Given the description of an element on the screen output the (x, y) to click on. 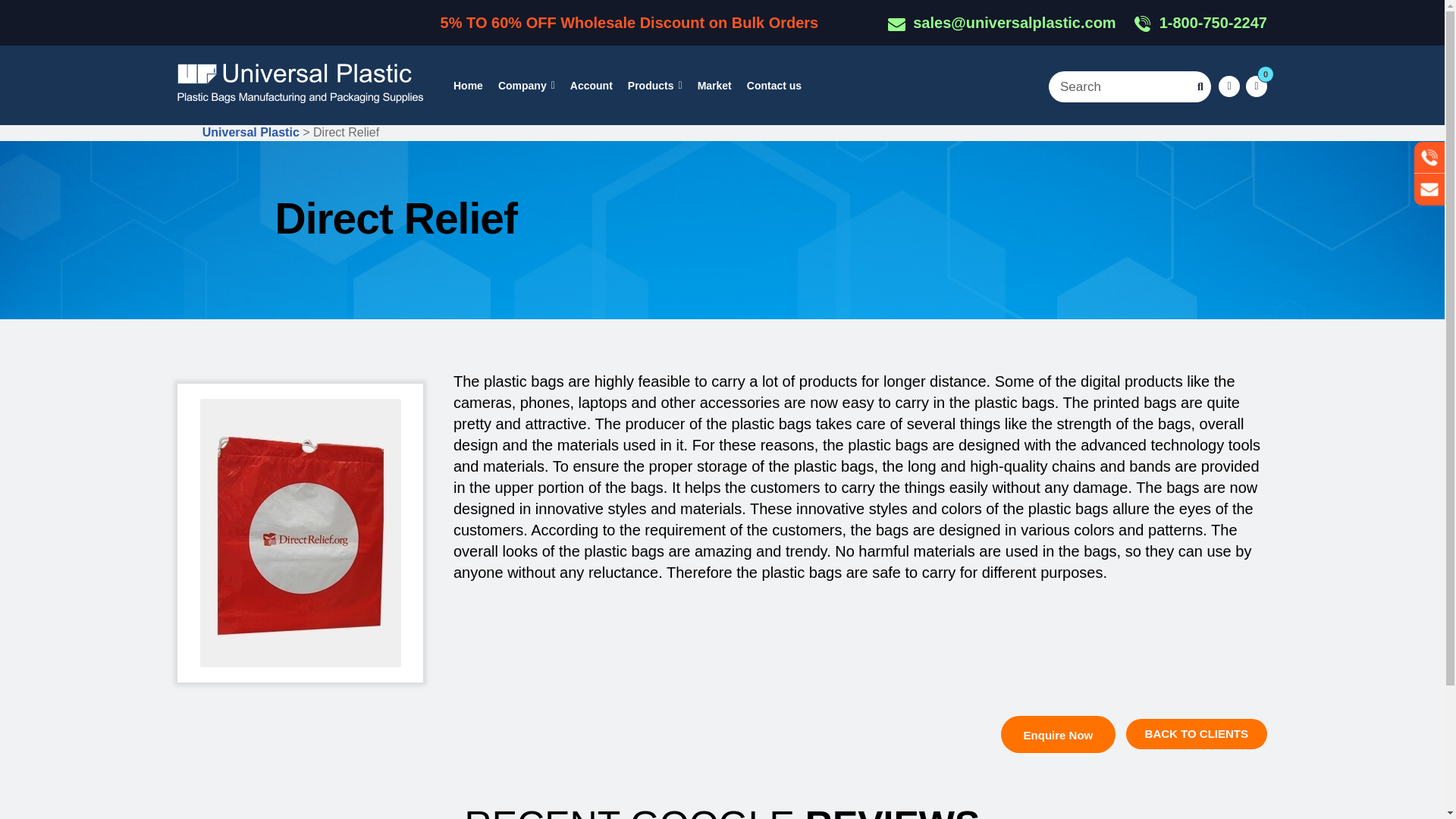
Market (714, 85)
Products (655, 85)
Account (1229, 86)
Account (591, 85)
1-800-750-2247 (1200, 22)
Back To Clients (1195, 734)
Cart (1256, 86)
Go to Universal Plastic. (250, 132)
18007502247 (1200, 22)
Enquiry (1058, 733)
